Given the description of an element on the screen output the (x, y) to click on. 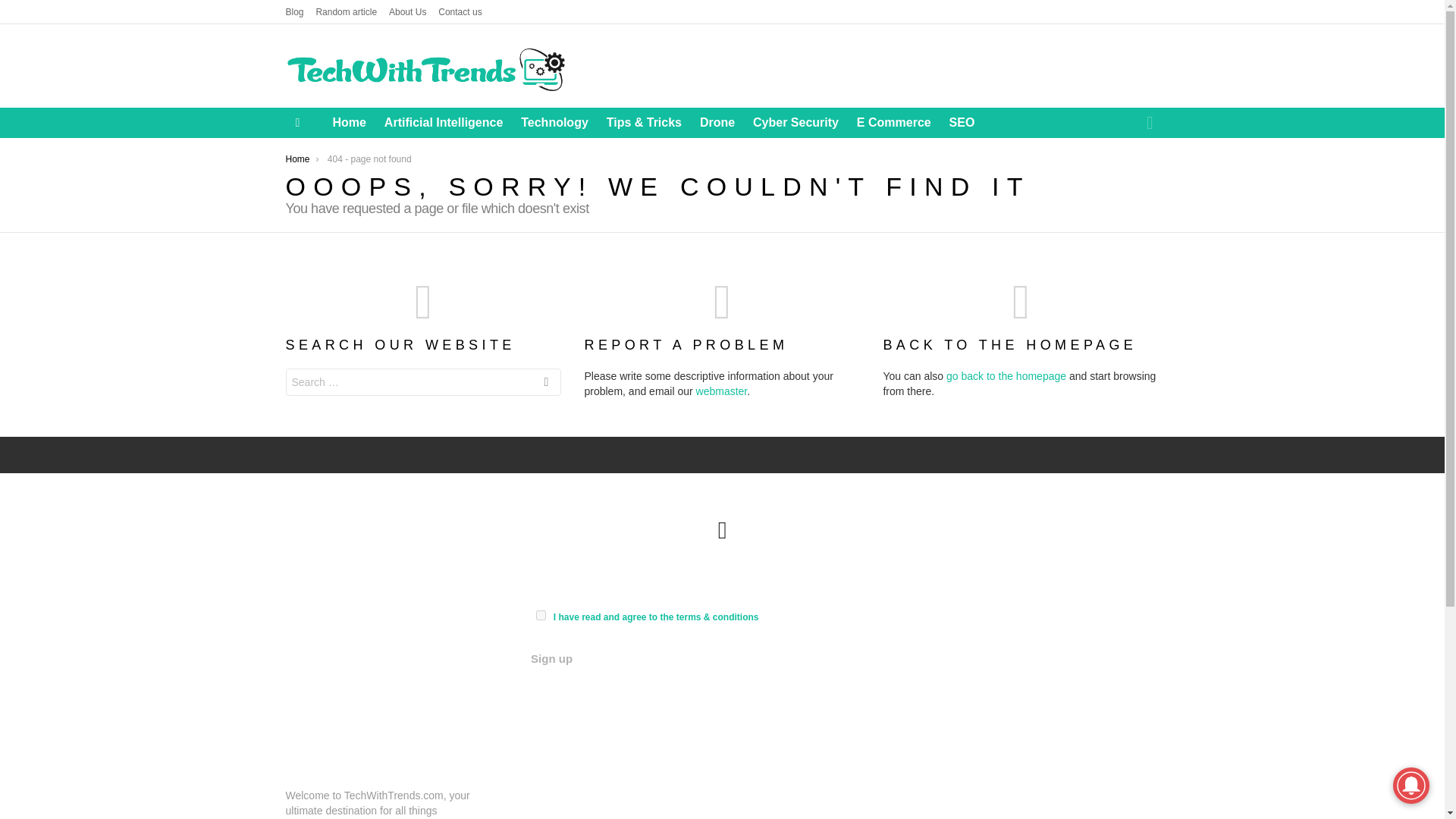
Technology (554, 122)
Cyber Security (795, 122)
Random article (346, 12)
SEO (962, 122)
E Commerce (893, 122)
Home (348, 122)
1 (540, 614)
About Us (407, 12)
Contact us (459, 12)
Sign up (551, 658)
Artificial Intelligence (444, 122)
Home (296, 158)
Sign up (551, 658)
